Given the description of an element on the screen output the (x, y) to click on. 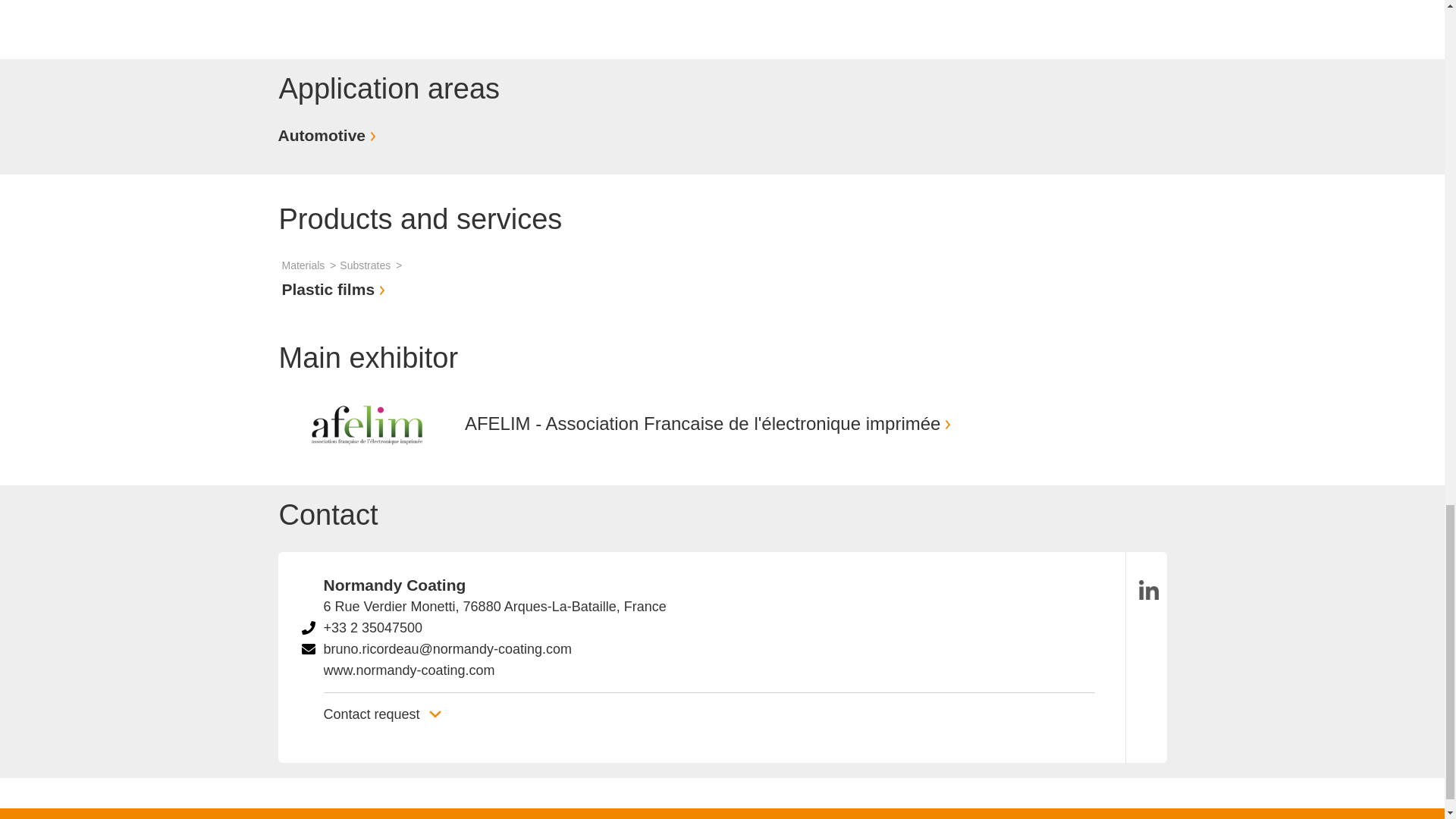
Plastic films (336, 289)
NORMANDY COATING and printed electronics - Read on (380, 14)
Exhibitor for Application area: Automotive (329, 135)
Automotive (329, 135)
www.normandy-coating.com (409, 670)
Substrates (372, 265)
Materials (311, 265)
